Given the description of an element on the screen output the (x, y) to click on. 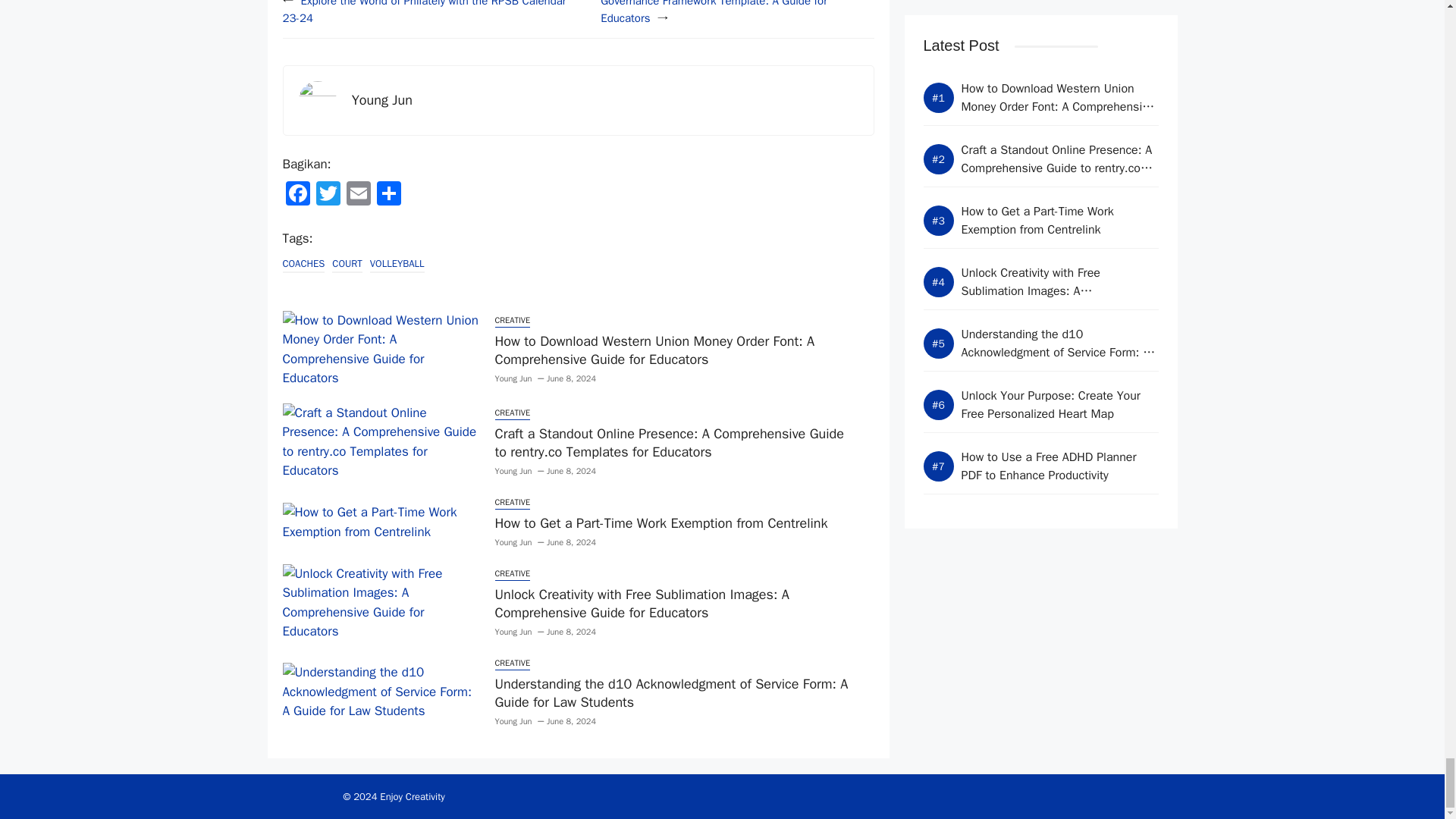
VOLLEYBALL (397, 264)
Young Jun (513, 631)
CREATIVE (512, 574)
CREATIVE (512, 320)
COACHES (303, 264)
Young Jun (513, 542)
Twitter (327, 194)
CREATIVE (512, 413)
How to Get a Part-Time Work Exemption from Centrelink (661, 523)
Email (357, 194)
CREATIVE (512, 502)
Young Jun (382, 99)
